Given the description of an element on the screen output the (x, y) to click on. 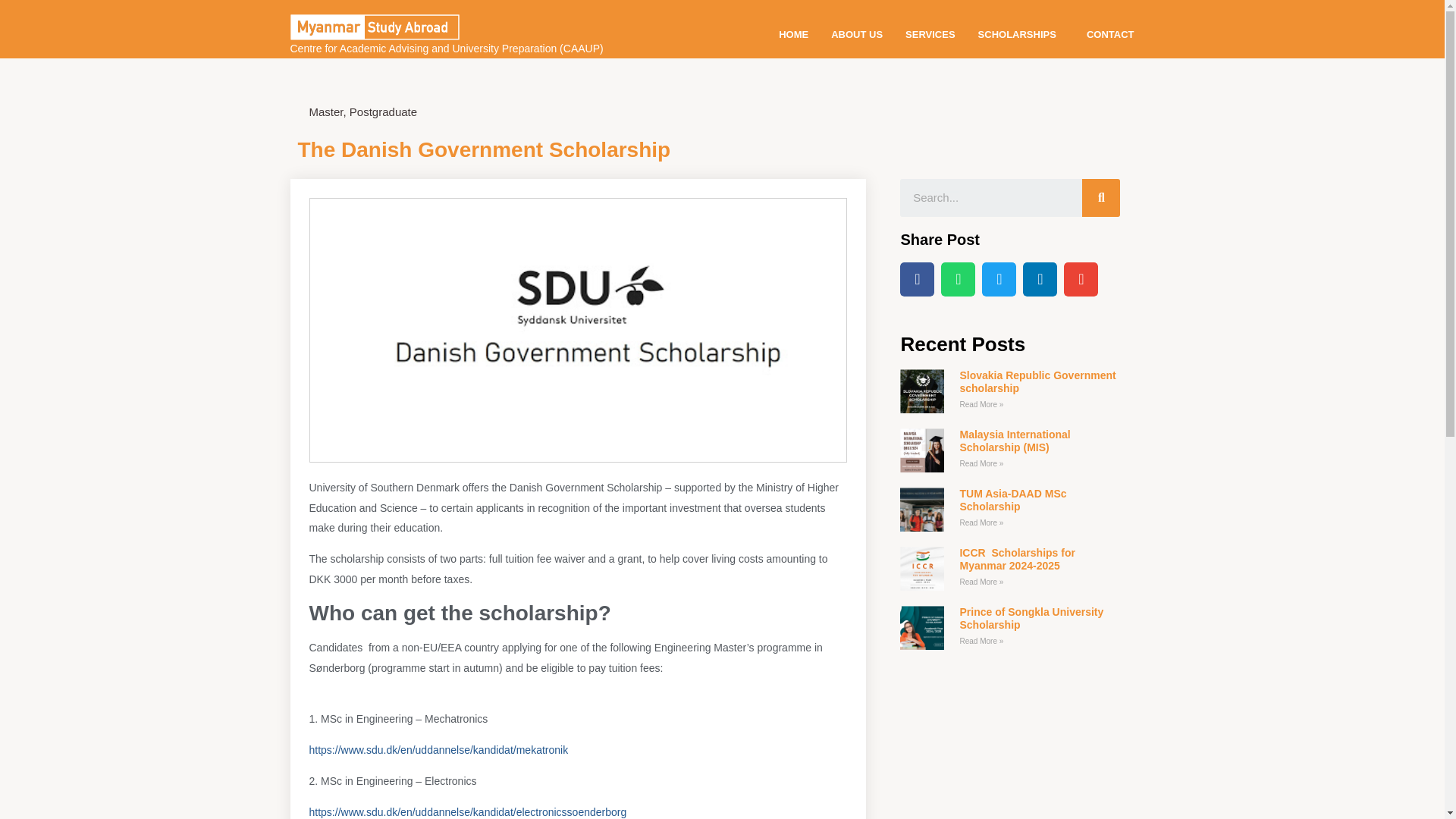
Search (1100, 198)
Search (990, 198)
